Given the description of an element on the screen output the (x, y) to click on. 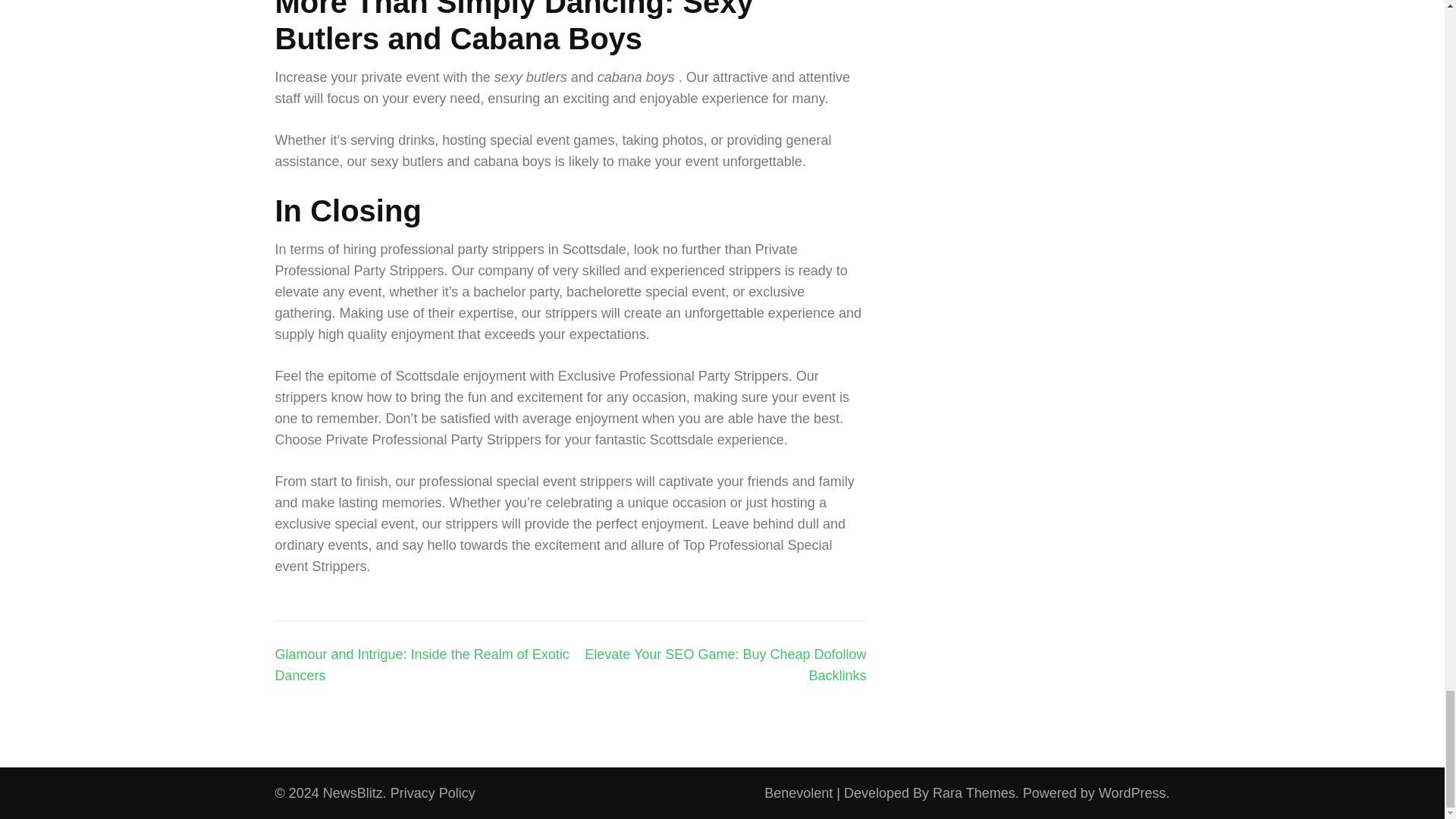
Glamour and Intrigue: Inside the Realm of Exotic Dancers (422, 665)
Elevate Your SEO Game: Buy Cheap Dofollow Backlinks (725, 665)
